Given the description of an element on the screen output the (x, y) to click on. 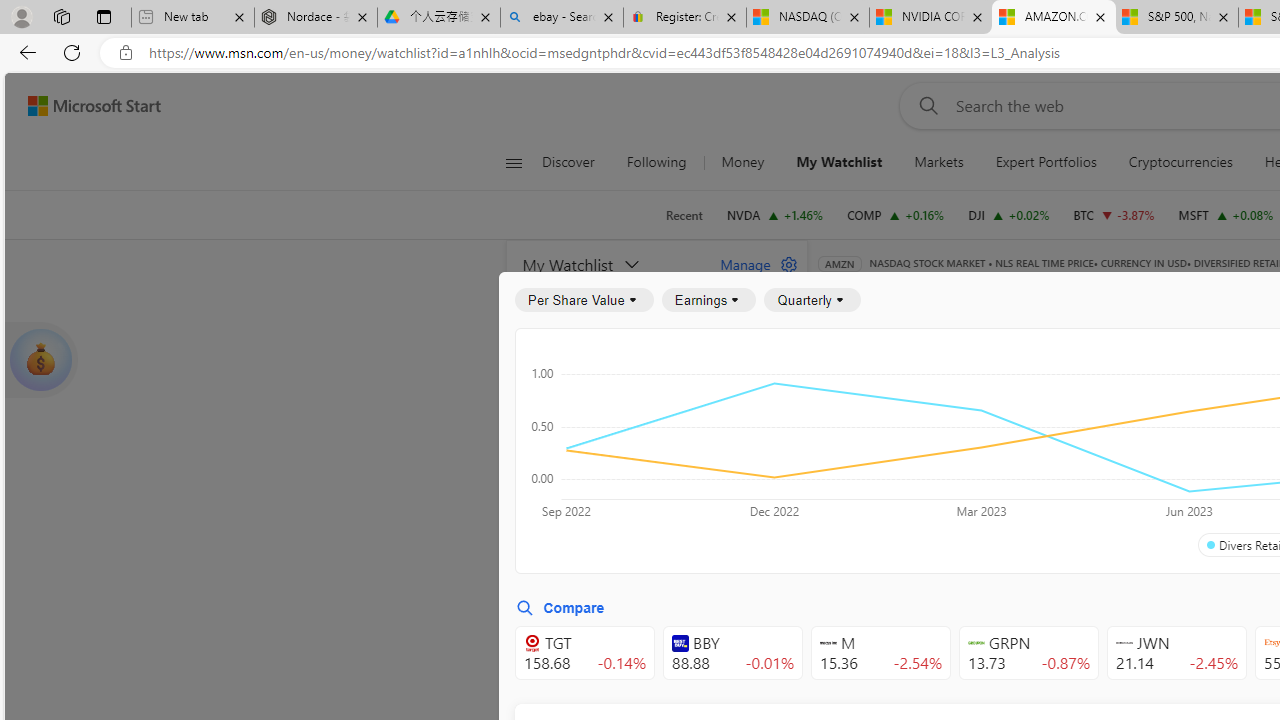
remove from your watchlist (786, 498)
Skip to content (86, 105)
Markets (938, 162)
NVDA NVIDIA CORPORATION increase 128.30 +1.84 +1.46% (774, 214)
Annual (865, 503)
Class: autoSuggestIcon-DS-EntryPoint1-2 (1124, 643)
Register: Create a personal eBay account (684, 17)
Balance Sheet (1079, 391)
show card (40, 359)
Open navigation menu (513, 162)
Skip to footer (82, 105)
